Given the description of an element on the screen output the (x, y) to click on. 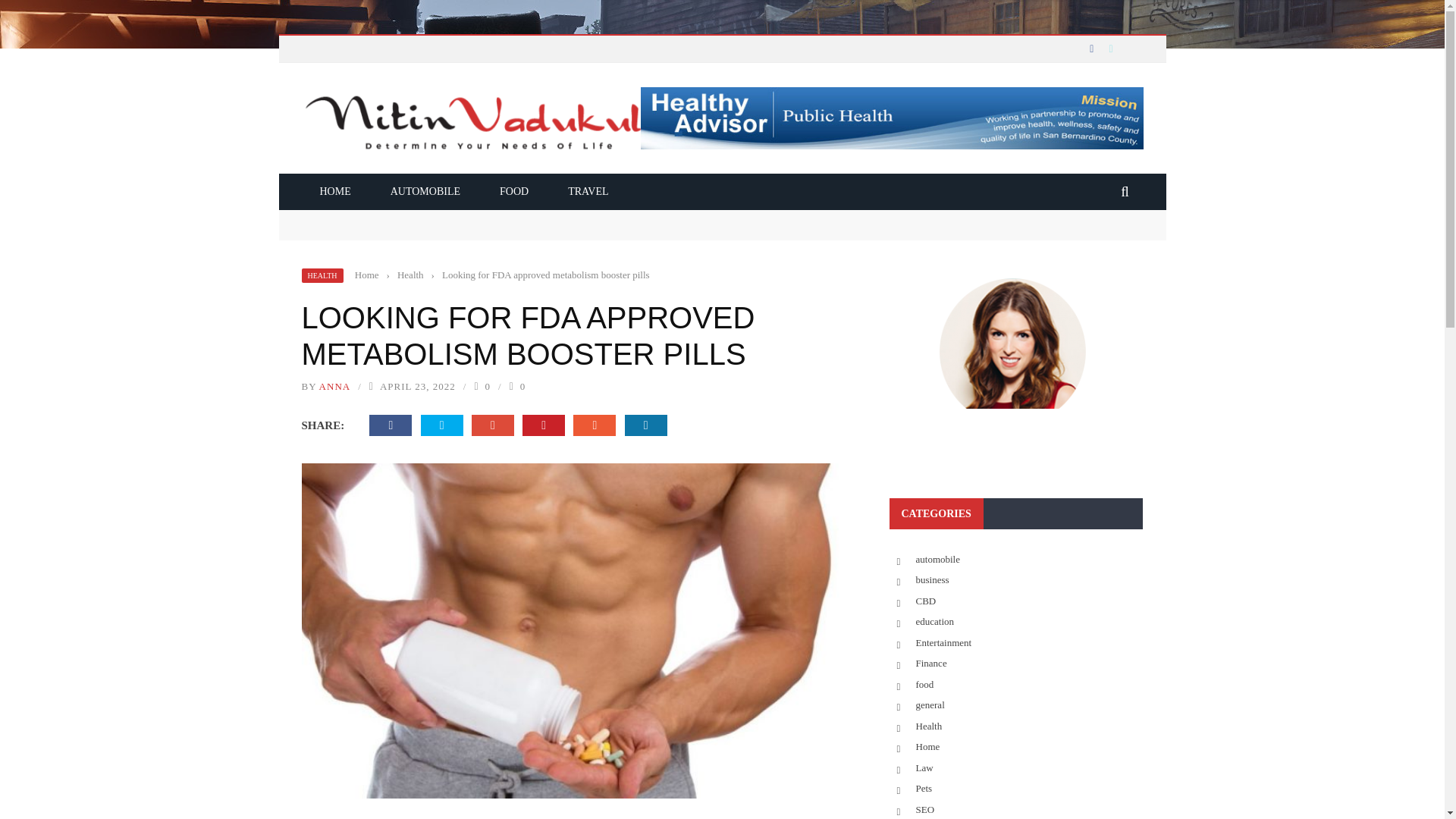
HEALTH (322, 275)
AUTOMOBILE (425, 191)
TRAVEL (588, 191)
ANNA (334, 386)
Home (366, 274)
FOOD (514, 191)
HOME (335, 191)
Health (410, 274)
